Given the description of an element on the screen output the (x, y) to click on. 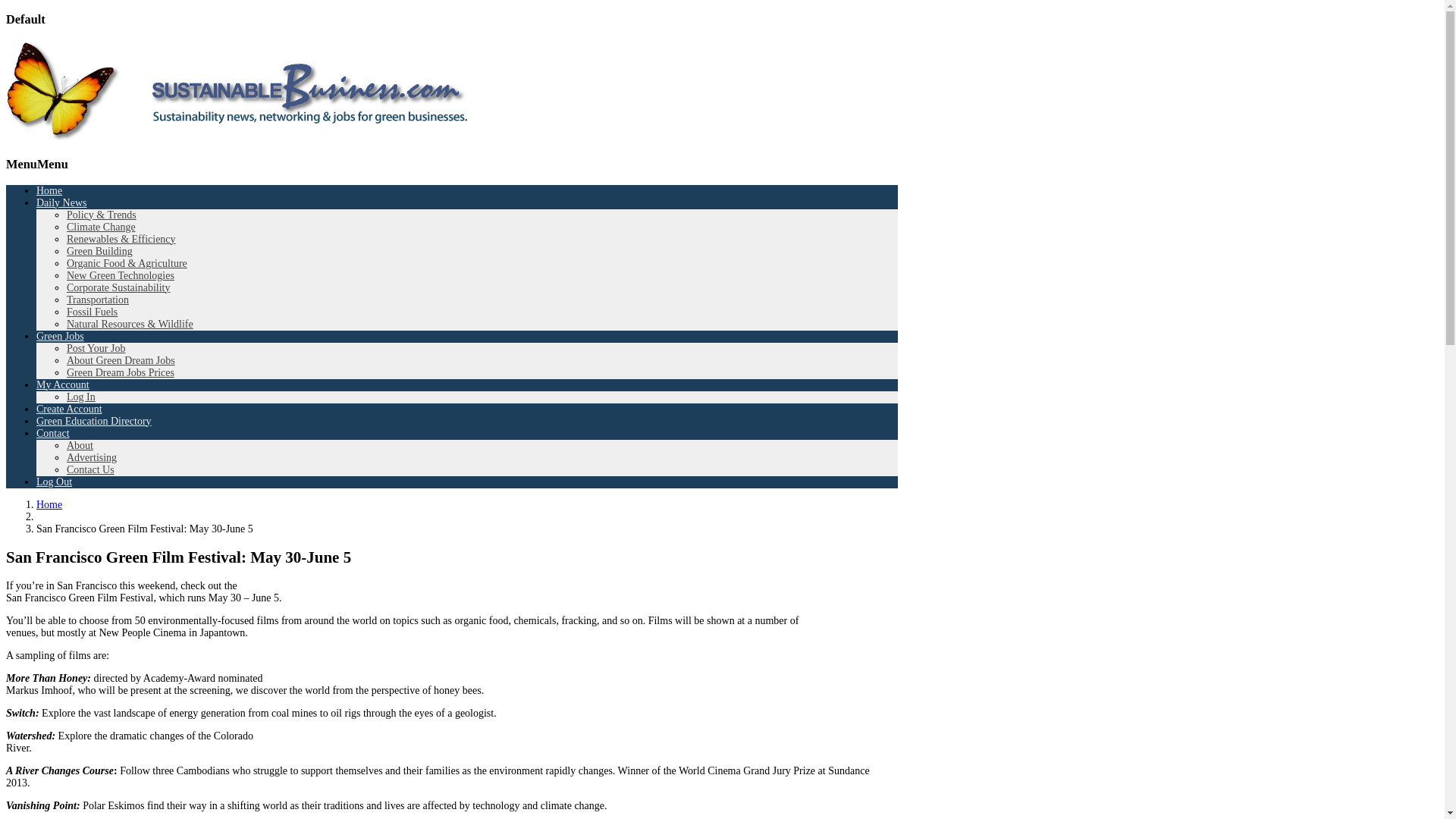
Create Account (68, 408)
Advertising (91, 457)
Green Jobs (60, 336)
Log Out (53, 481)
Log In (81, 396)
Post Your Job (95, 348)
Climate Change (100, 226)
Daily News (61, 202)
Contact Us (90, 469)
Green Building (99, 251)
New Green Technologies (120, 275)
Corporate Sustainability (118, 287)
About (79, 445)
About Green Dream Jobs (120, 360)
Transportation (97, 299)
